Given the description of an element on the screen output the (x, y) to click on. 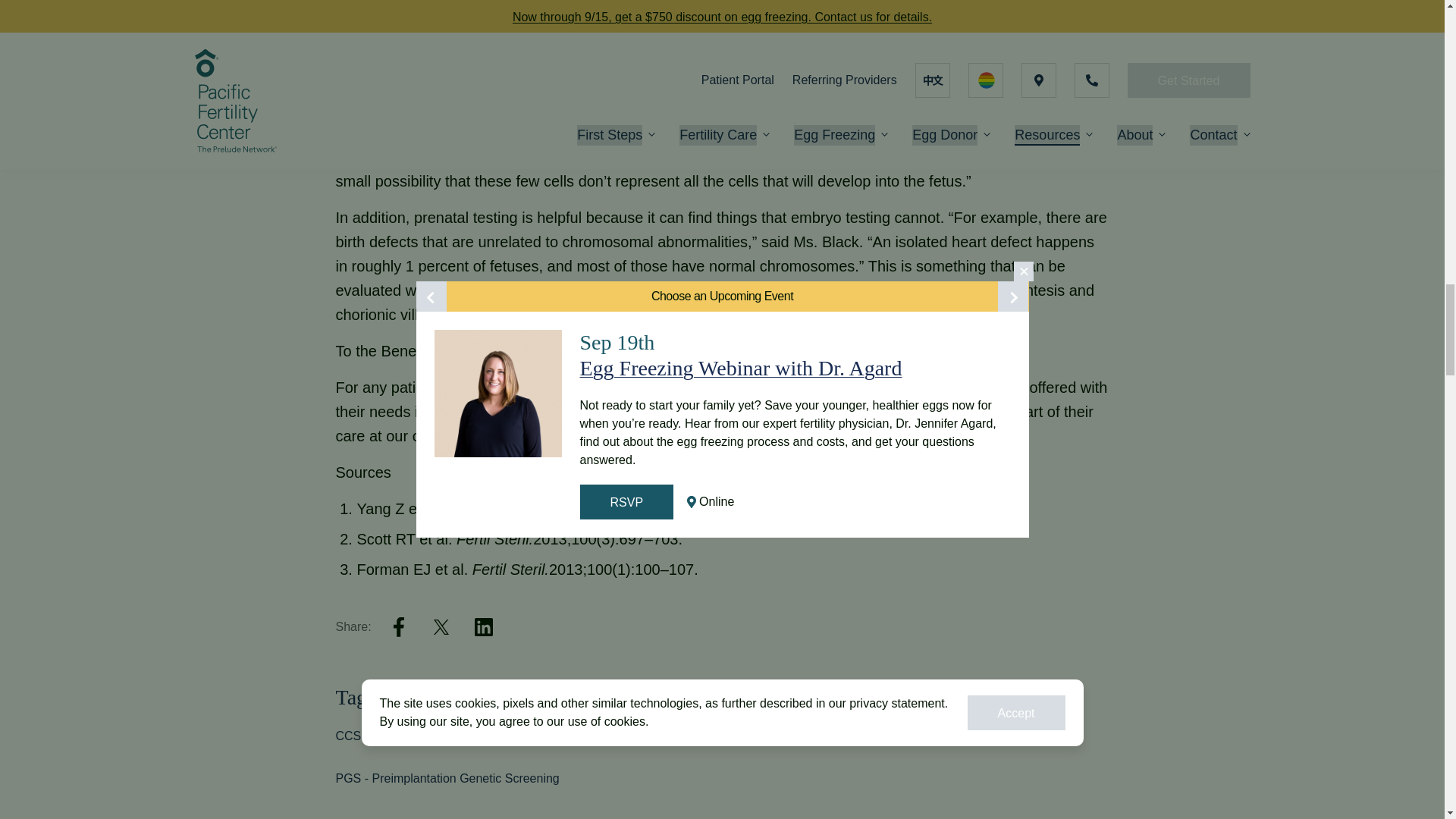
CCS - Comprehensive Chromosome Screening (462, 735)
PGS - Preimplantation Genetic Screening (446, 778)
Healthy Pregnancy (777, 735)
PGD - Preimplantation Genetic Diagnosis (958, 735)
Genetic Screening (660, 735)
